Given the description of an element on the screen output the (x, y) to click on. 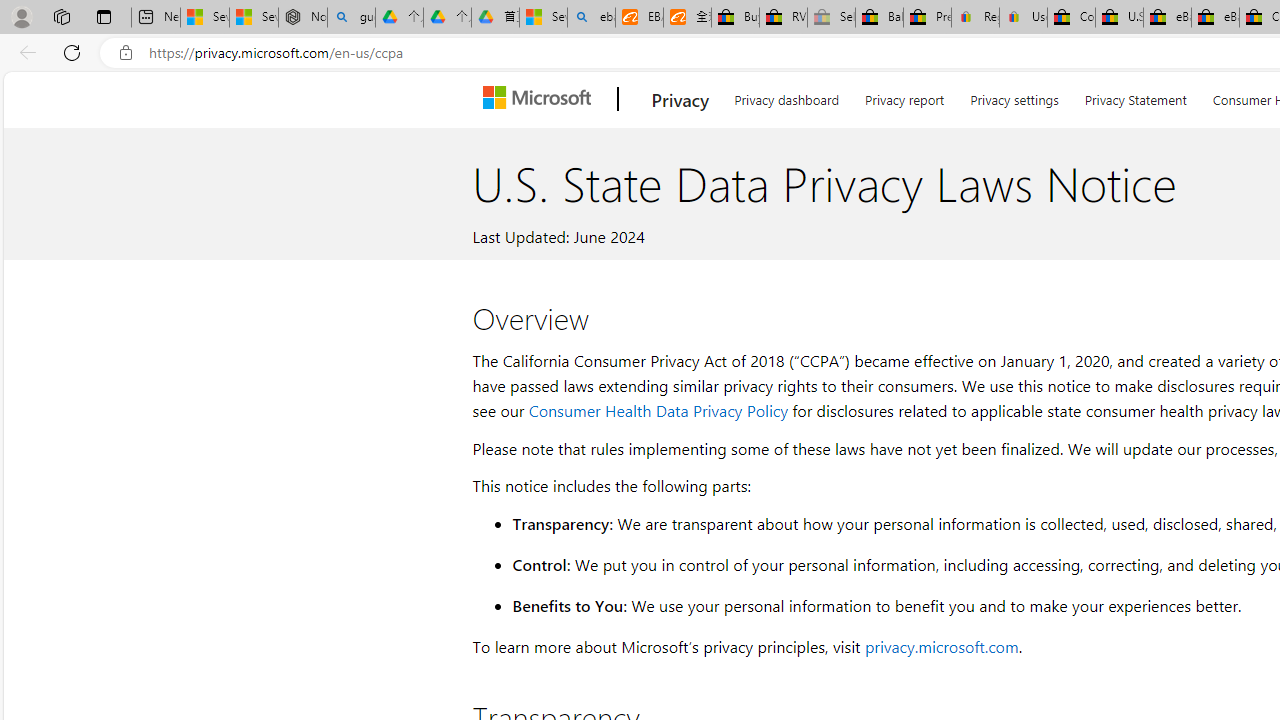
RV, Trailer & Camper Steps & Ladders for sale | eBay (783, 17)
Consumer Health Data Privacy Policy - eBay Inc. (1071, 17)
Workspaces (61, 16)
Privacy report (904, 96)
New tab (155, 17)
Privacy dashboard (786, 96)
Privacy Statement (1135, 96)
ebay - Search (591, 17)
Register: Create a personal eBay account (975, 17)
Back (24, 52)
View site information (125, 53)
Privacy settings (1014, 96)
